Given the description of an element on the screen output the (x, y) to click on. 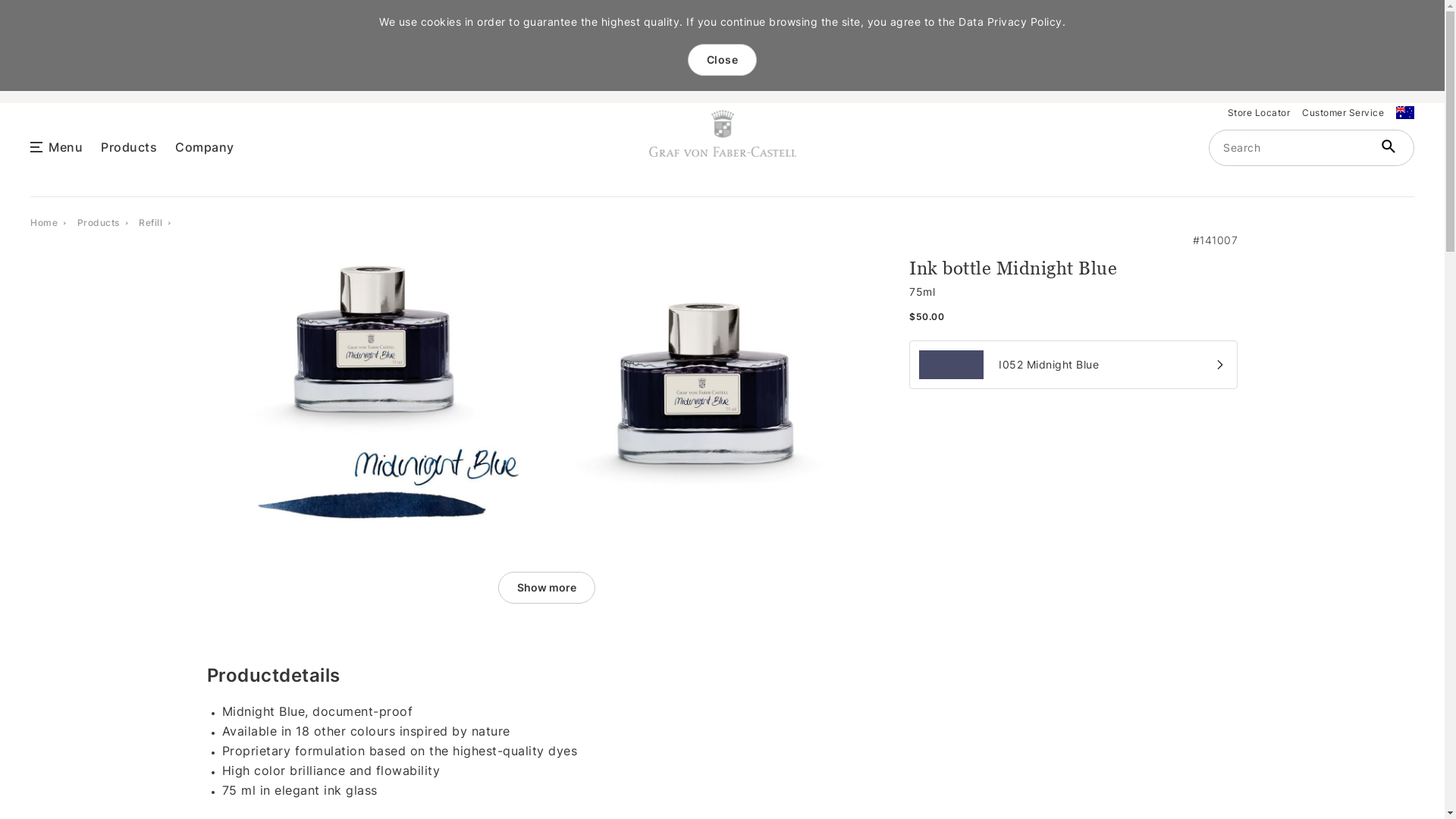
Show more Element type: text (546, 587)
Menu Element type: text (65, 145)
Texture-all Element type: hover (951, 364)
Products Element type: text (98, 221)
Company Element type: text (204, 146)
Customer Service Element type: text (1342, 112)
141007_10_PM1 Element type: hover (714, 395)
Store Locator Element type: text (1257, 112)
Home Element type: text (43, 221)
Refill Element type: text (150, 221)
Close Element type: text (722, 59)
141007_0_PM99 Element type: hover (370, 395)
navi-graf-von-faber-castell-Logo-130px Element type: hover (722, 132)
Products Element type: text (128, 146)
